Given the description of an element on the screen output the (x, y) to click on. 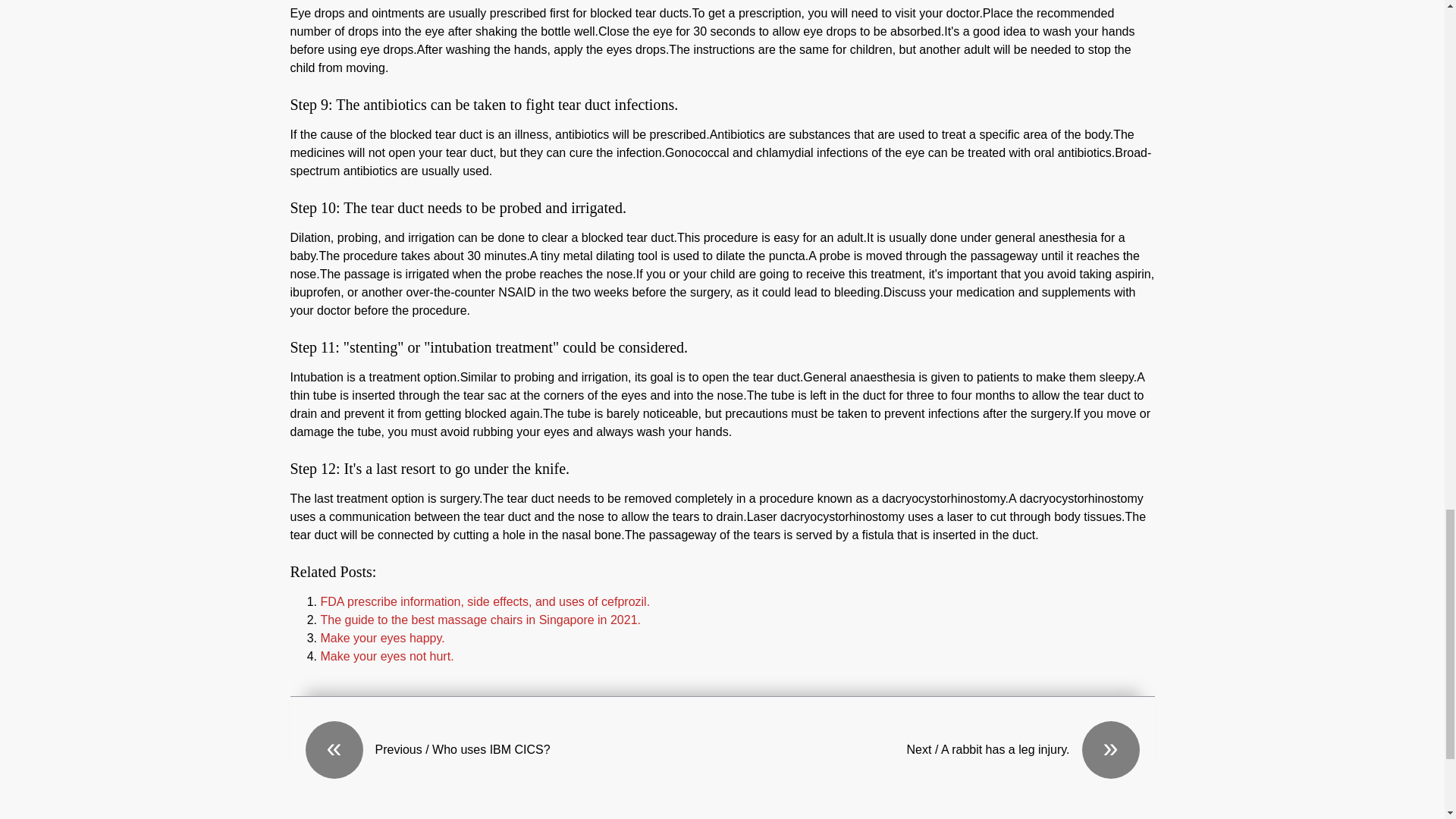
Make your eyes not hurt. (386, 656)
Make your eyes happy. (382, 637)
A rabbit has a leg injury. (930, 749)
The guide to the best massage chairs in Singapore in 2021. (480, 619)
Who uses IBM CICS? (513, 749)
